Given the description of an element on the screen output the (x, y) to click on. 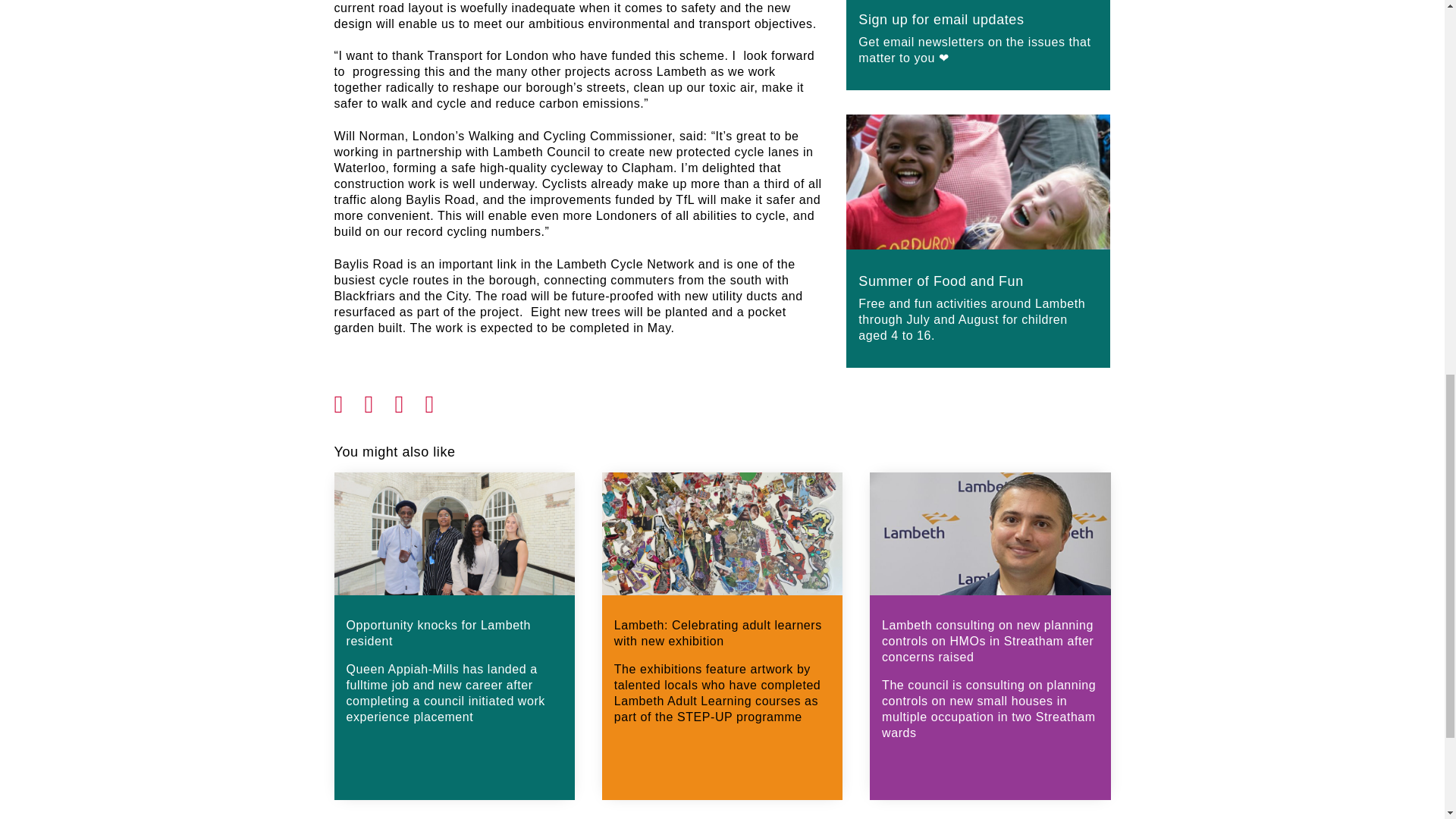
share this on twitter (379, 399)
share this on google plus (409, 399)
share this on Facebook (348, 399)
